Given the description of an element on the screen output the (x, y) to click on. 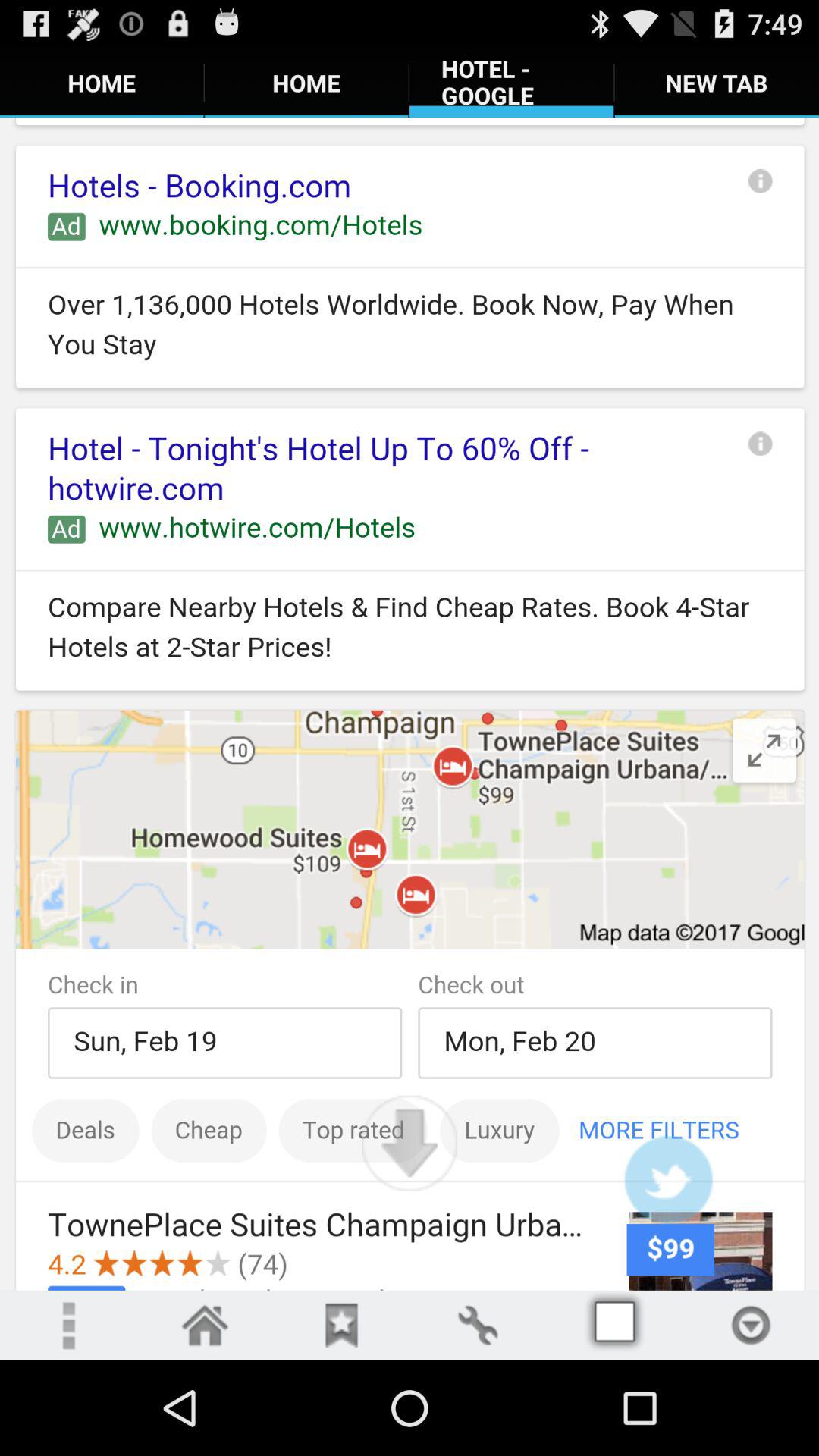
go to down arrow (750, 1325)
